Given the description of an element on the screen output the (x, y) to click on. 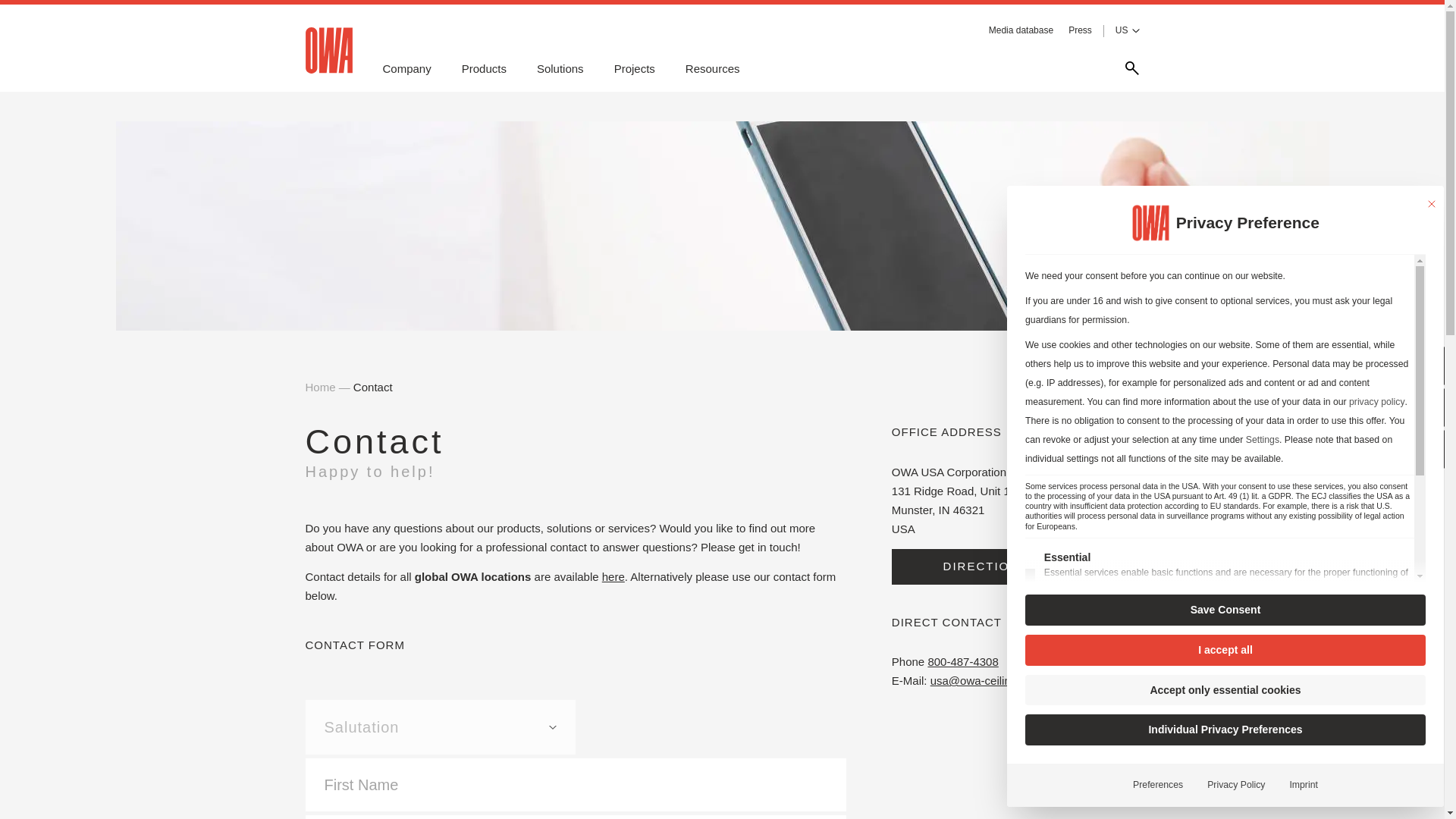
Products (483, 68)
Press (1080, 30)
on (1030, 575)
Media database (1020, 30)
Projects (634, 68)
Solutions (560, 68)
Resources (712, 68)
US (1127, 30)
Company (405, 68)
on (1029, 632)
on (1027, 690)
